Given the description of an element on the screen output the (x, y) to click on. 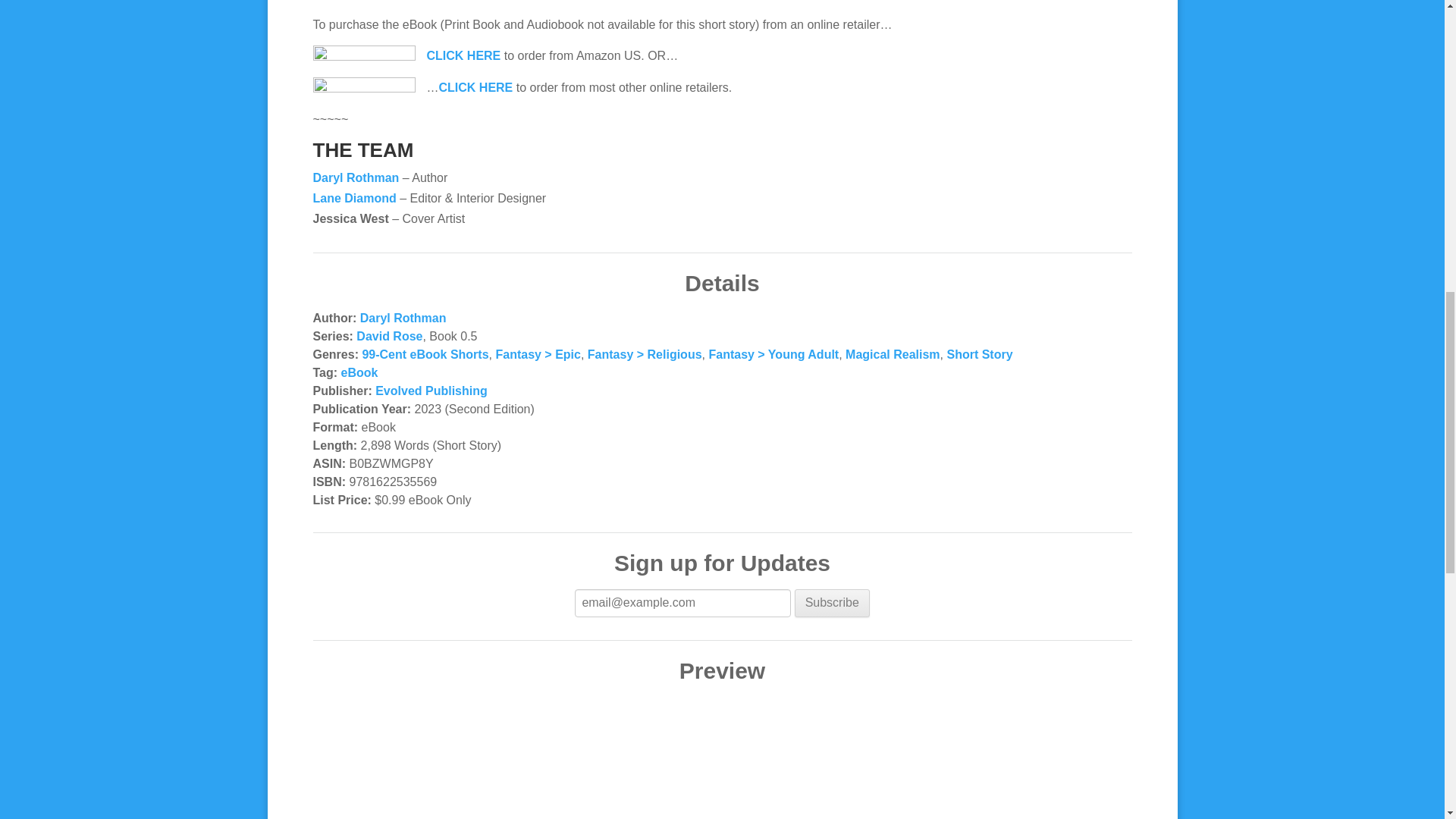
Editor (354, 197)
Books2Read (475, 87)
Amazon (463, 55)
Subscribe (831, 603)
Author (355, 177)
